Given the description of an element on the screen output the (x, y) to click on. 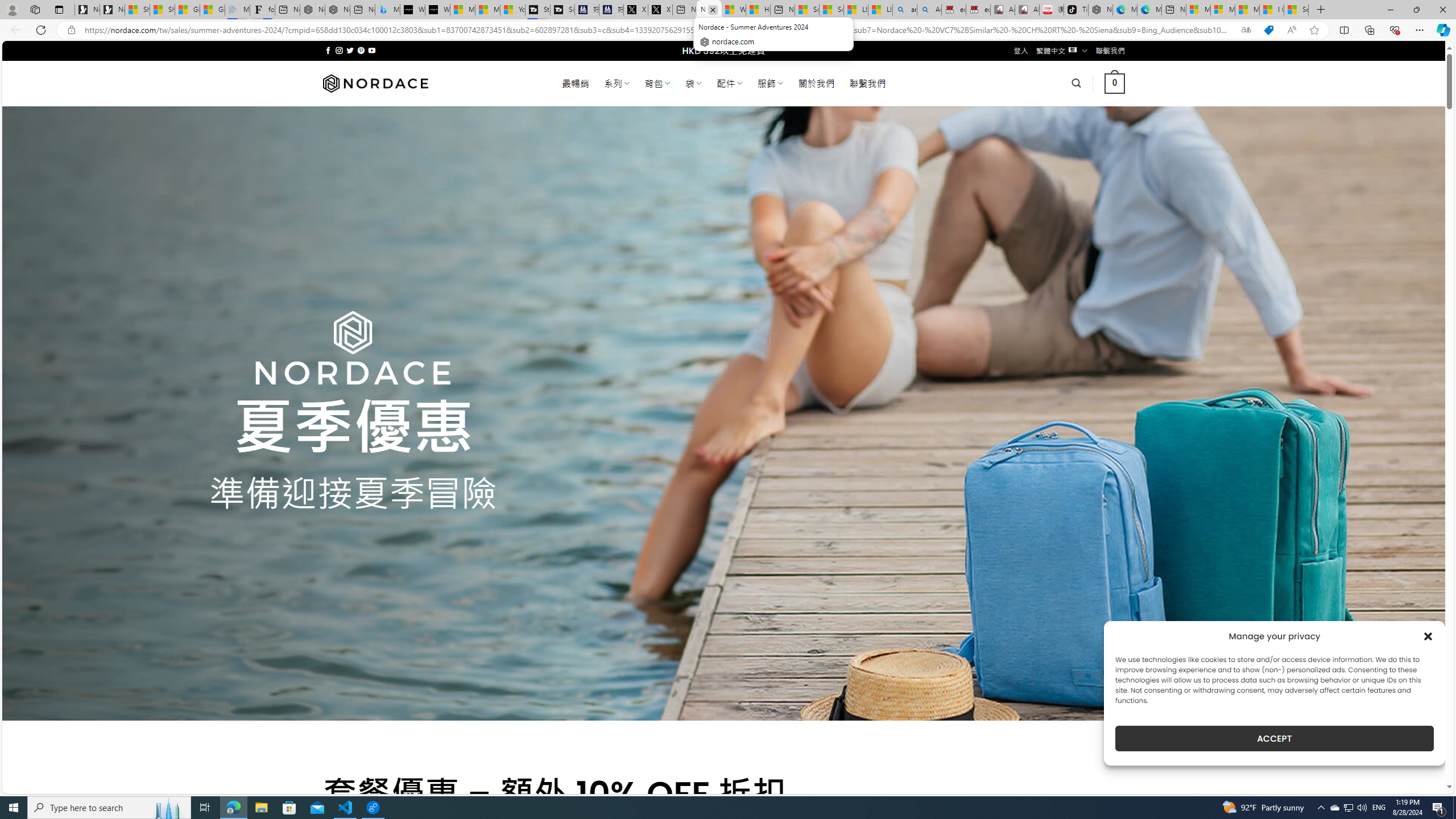
Class: cmplz-close (1428, 636)
Huge shark washes ashore at New York City beach | Watch (757, 9)
Follow on Facebook (327, 50)
This site has coupons! Shopping in Microsoft Edge (1268, 29)
Show translate options (1245, 29)
